Given the description of an element on the screen output the (x, y) to click on. 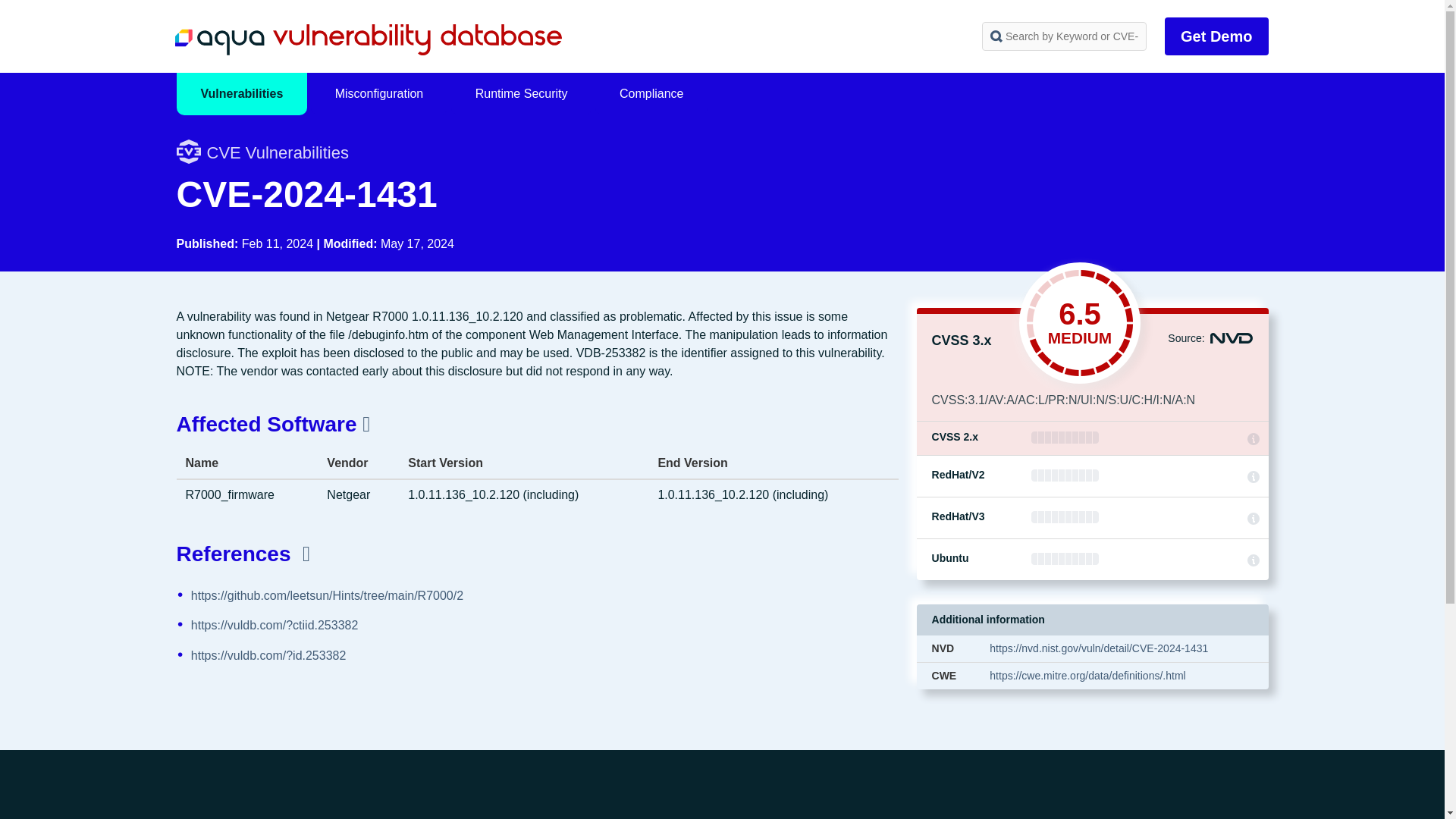
Get Demo (1216, 36)
Aqua Vulnerability Database (367, 39)
Compliance (651, 93)
Aqua Vulnerability Database (367, 39)
Runtime Security (521, 93)
Misconfiguration (379, 93)
Vulnerabilities (241, 93)
